Given the description of an element on the screen output the (x, y) to click on. 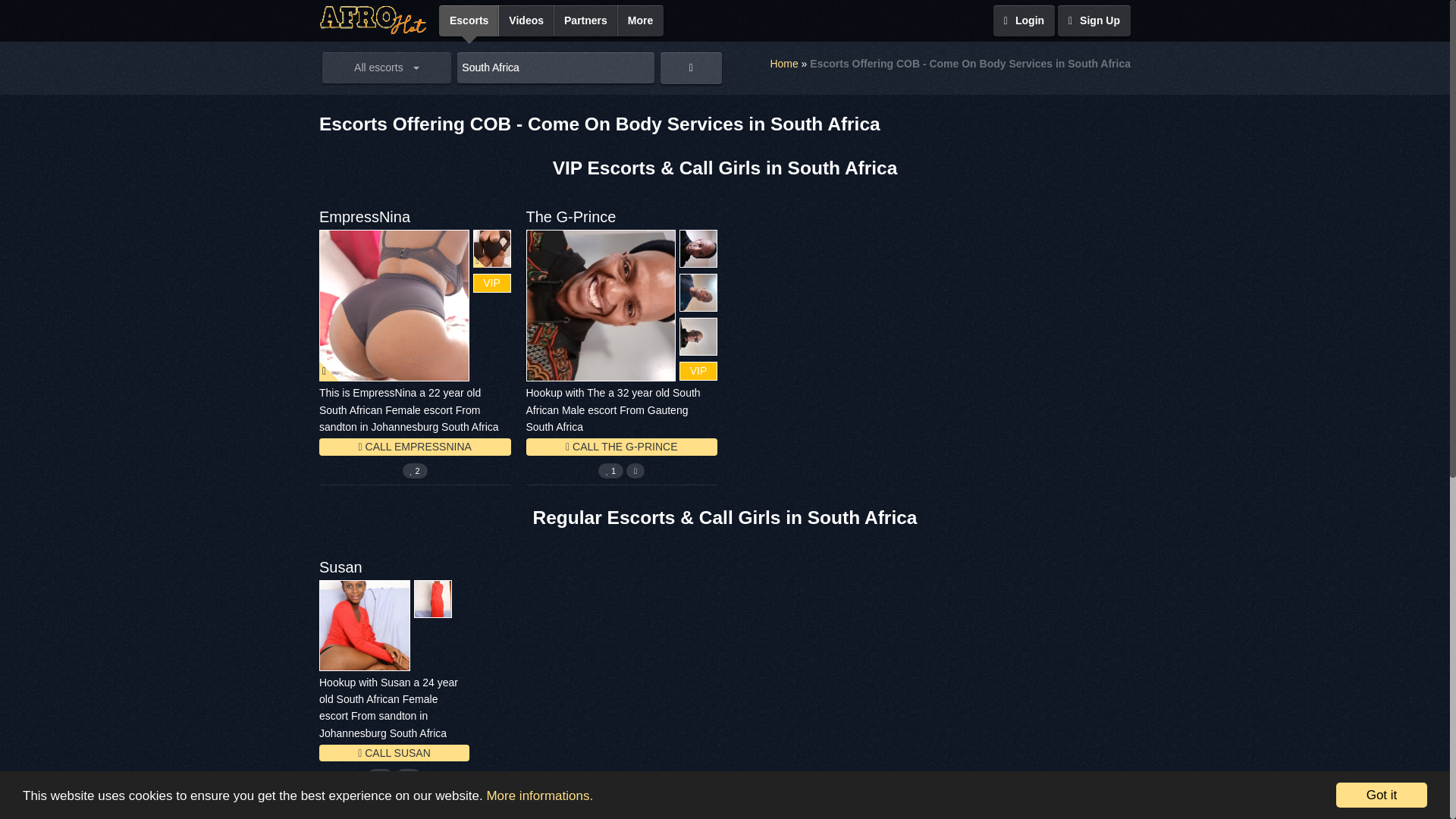
Home (783, 63)
Sign Up (1094, 20)
Videos (525, 20)
Partners (585, 20)
Escorts (469, 20)
Susan (340, 566)
All escorts (386, 67)
The G-Prince (570, 217)
South Africa (555, 67)
EmpressNina (364, 217)
Login (1023, 20)
CALL THE G-PRINCE (621, 446)
South Africa (555, 67)
1 reviews. Avg Rating: 4.00 (610, 470)
More (640, 20)
